Given the description of an element on the screen output the (x, y) to click on. 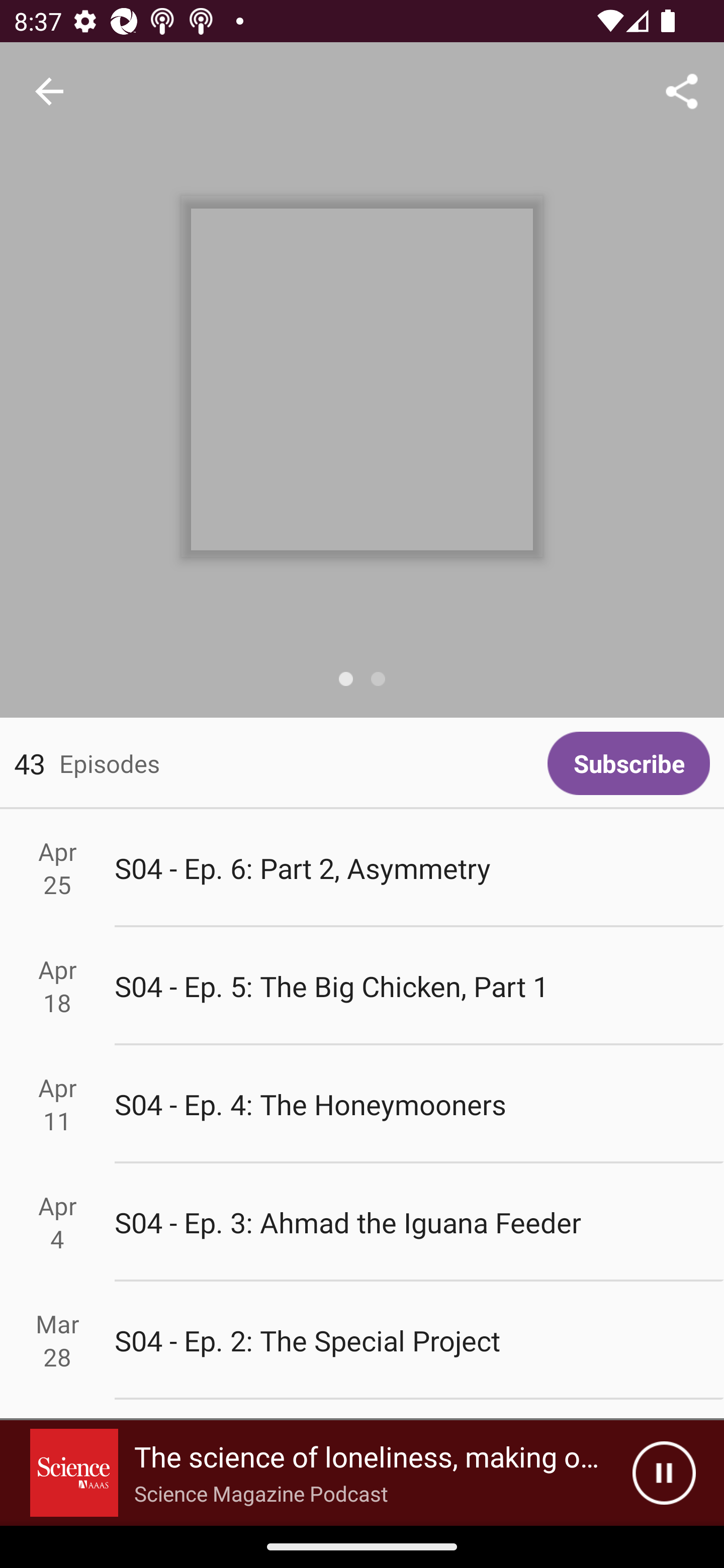
Navigate up (49, 91)
Share... (681, 90)
Subscribe (628, 763)
Apr 25 S04 - Ep. 6: Part 2, Asymmetry (362, 867)
Apr 18 S04 - Ep. 5: The Big Chicken, Part 1 (362, 985)
Apr 11 S04 - Ep. 4: The Honeymooners (362, 1104)
Apr 4 S04 - Ep. 3: Ahmad the Iguana Feeder (362, 1222)
Mar 28 S04 - Ep. 2: The Special Project (362, 1340)
Pause (663, 1472)
